Given the description of an element on the screen output the (x, y) to click on. 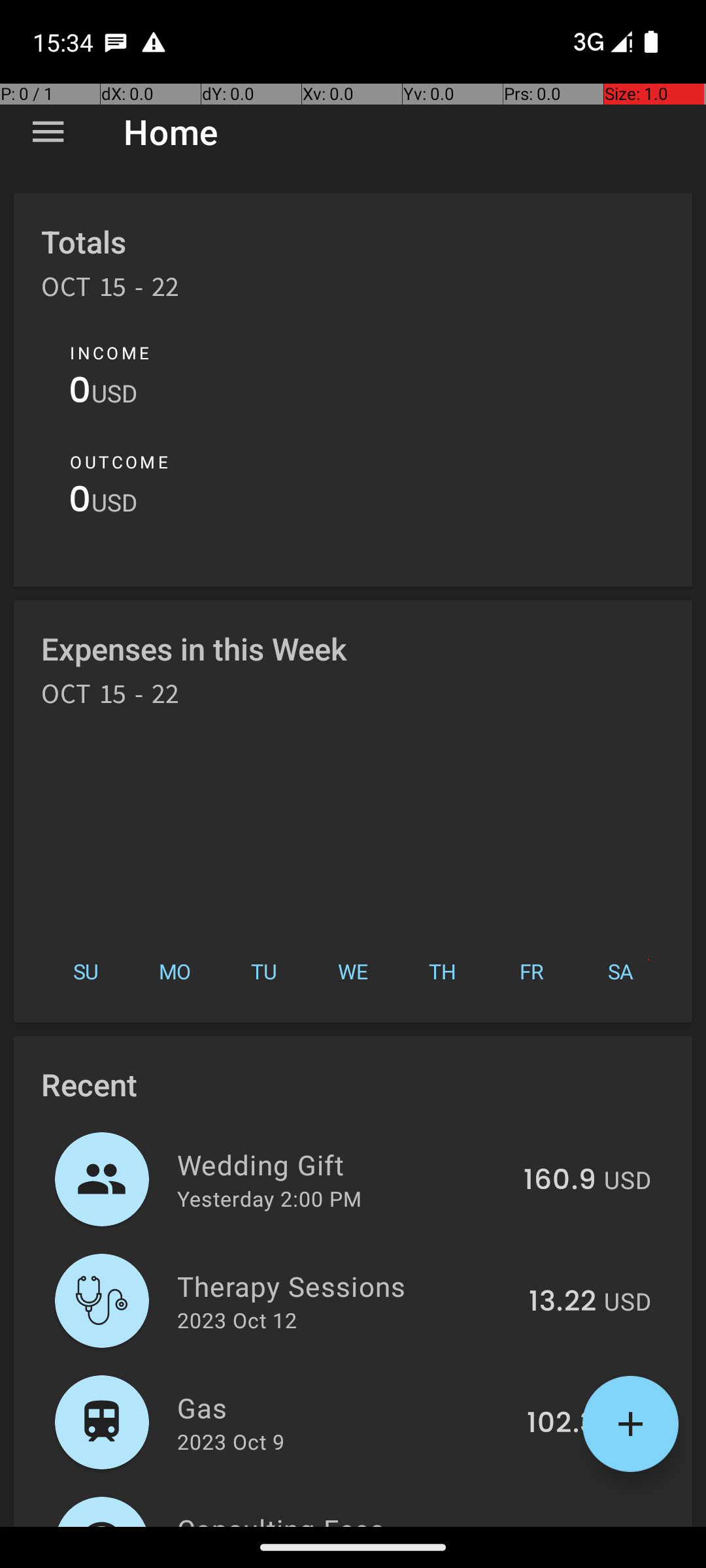
Wedding Gift Element type: android.widget.TextView (342, 1164)
Yesterday 2:00 PM Element type: android.widget.TextView (269, 1198)
160.9 Element type: android.widget.TextView (559, 1180)
Therapy Sessions Element type: android.widget.TextView (345, 1285)
2023 Oct 12 Element type: android.widget.TextView (236, 1320)
13.22 Element type: android.widget.TextView (562, 1301)
Gas Element type: android.widget.TextView (344, 1407)
2023 Oct 9 Element type: android.widget.TextView (230, 1441)
102.3 Element type: android.widget.TextView (561, 1423)
Consulting Fees Element type: android.widget.TextView (331, 1518)
347.46 Element type: android.widget.TextView (548, 1524)
